Given the description of an element on the screen output the (x, y) to click on. 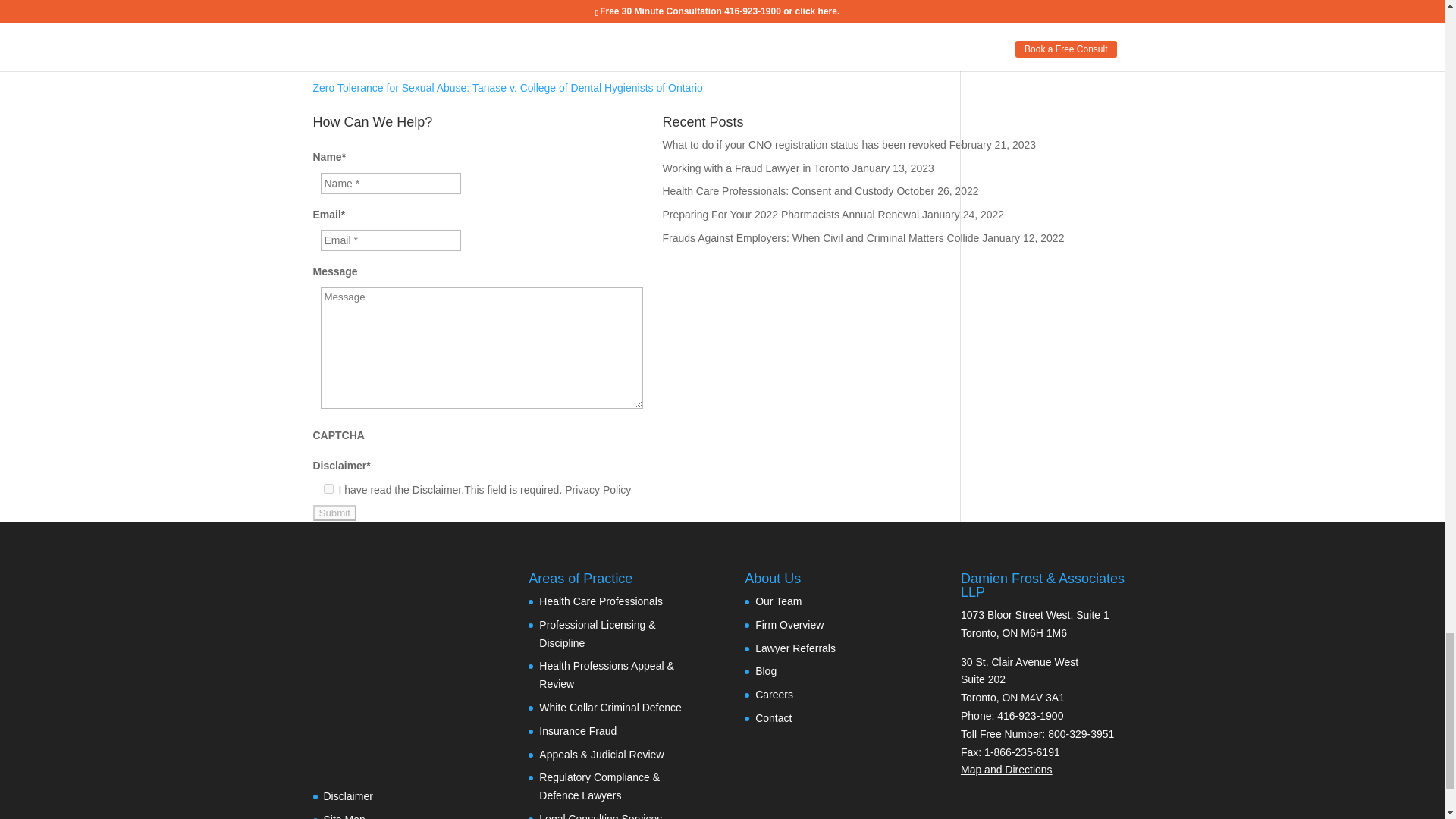
Submit (334, 512)
